Given the description of an element on the screen output the (x, y) to click on. 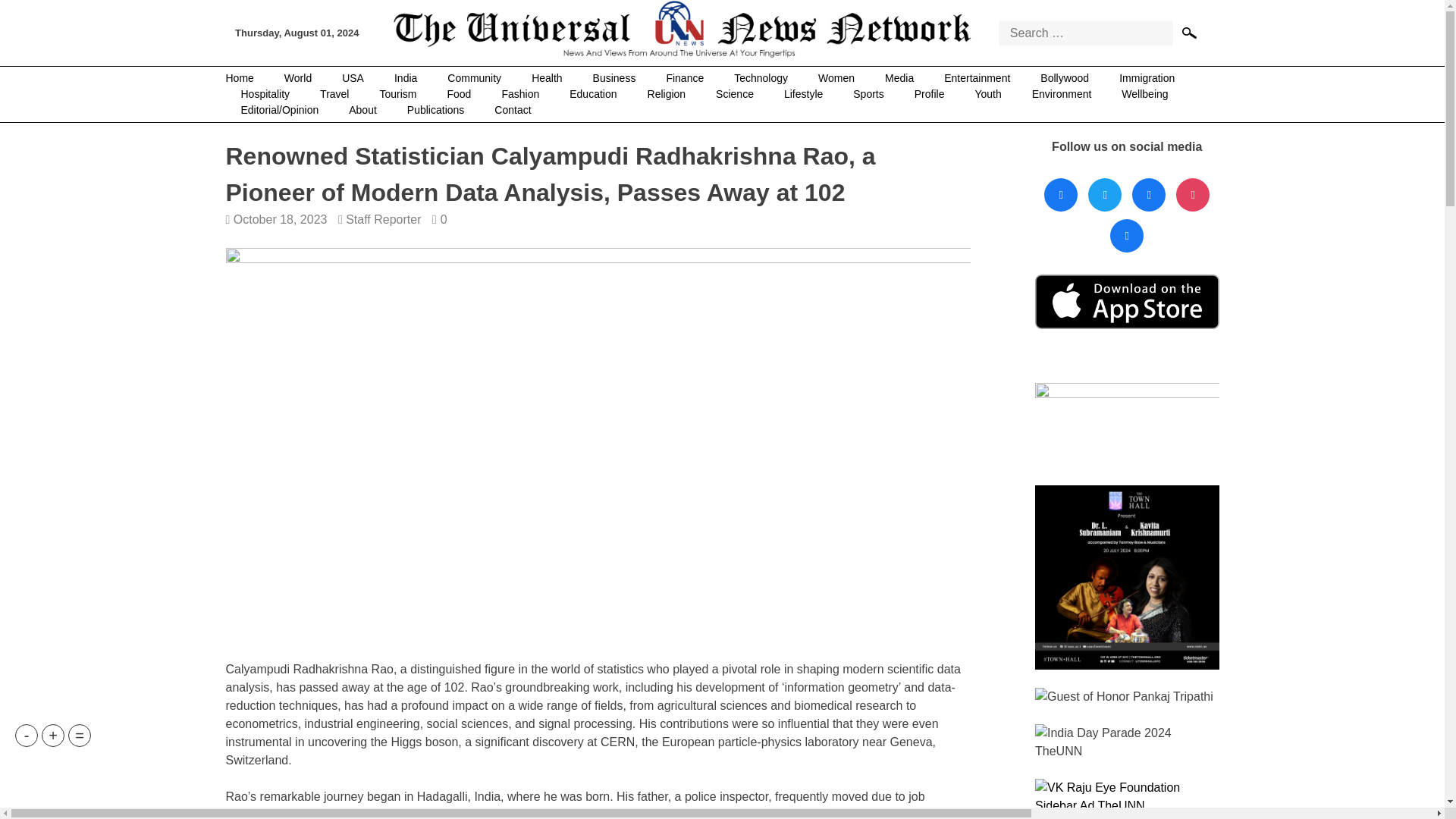
Food (459, 94)
Wellbeing (1144, 94)
Science (734, 94)
Home (247, 78)
Google news (1126, 235)
Youtube (1192, 194)
Twitter (1104, 194)
Contact (512, 109)
Search (1190, 32)
World (297, 78)
Facebook (1061, 194)
Lifestyle (803, 94)
Staff Reporter (383, 219)
Hospitality (265, 94)
Sports (868, 94)
